Given the description of an element on the screen output the (x, y) to click on. 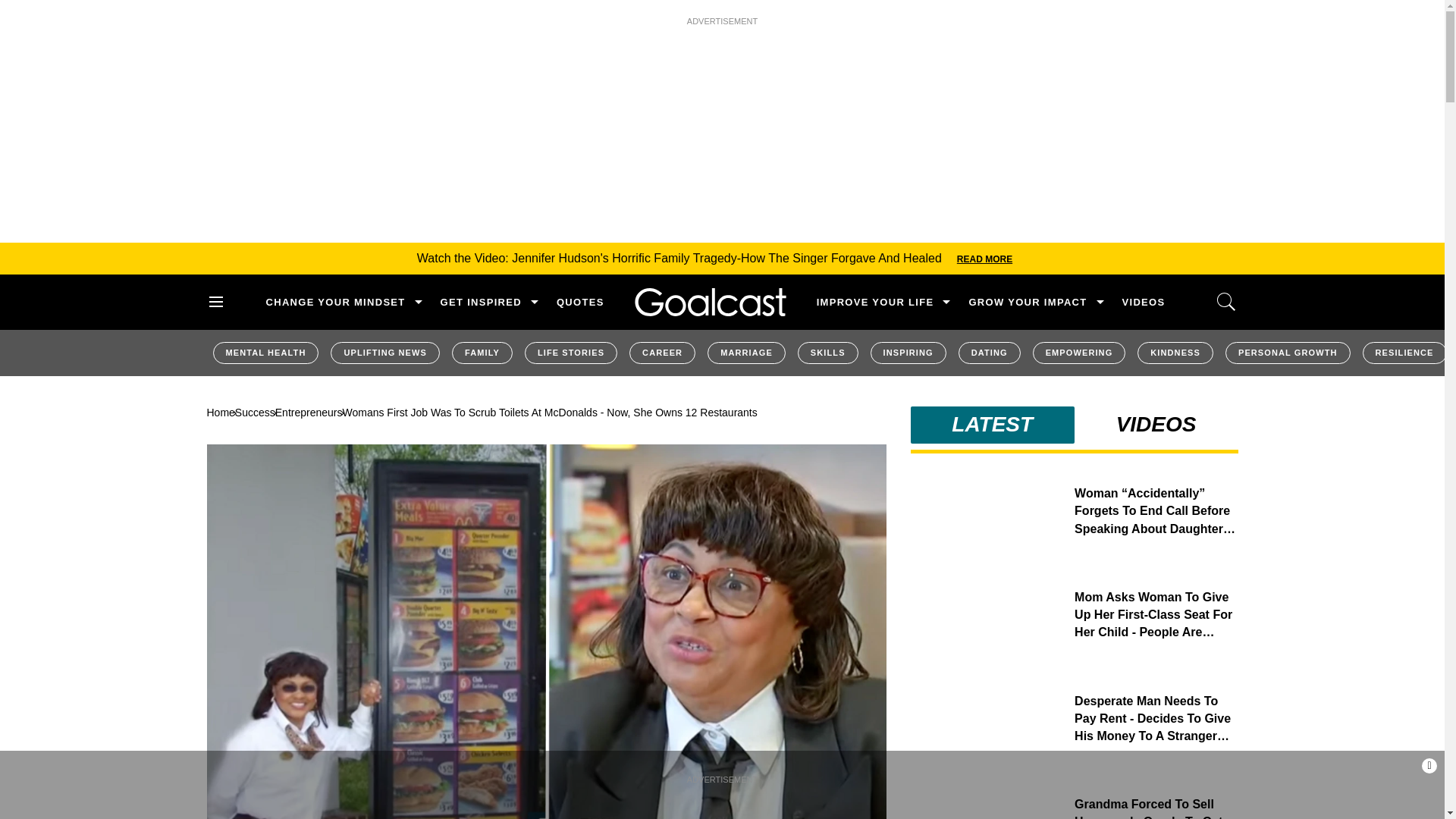
QUOTES (580, 301)
IMPROVE YOUR LIFE (875, 301)
CHANGE YOUR MINDSET (334, 301)
GROW YOUR IMPACT (1027, 301)
GET INSPIRED (481, 301)
VIDEOS (1144, 301)
